Given the description of an element on the screen output the (x, y) to click on. 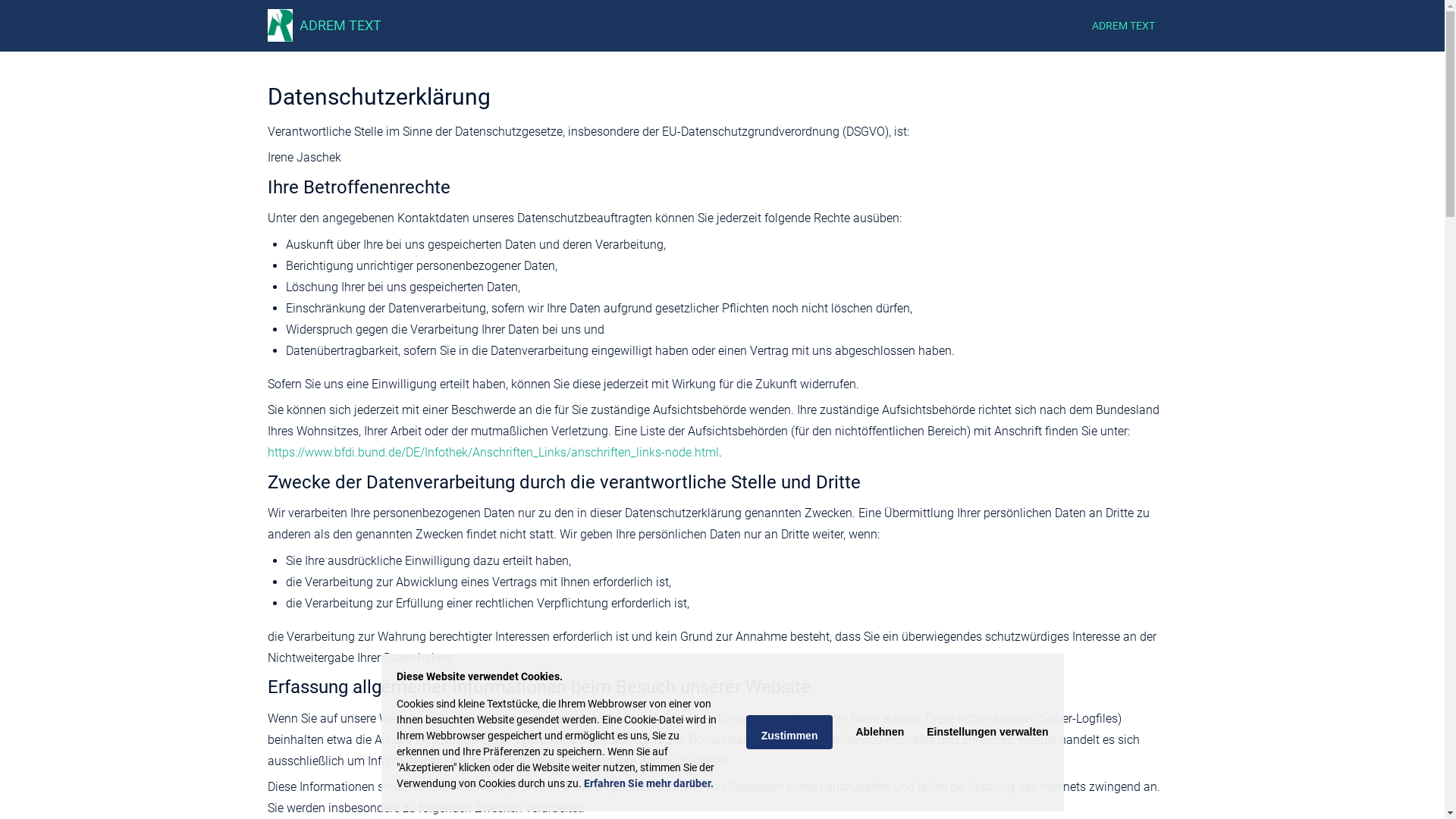
ADREM TEXT Element type: text (1123, 25)
ADREM TEXT Element type: text (339, 25)
Zustimmen Element type: text (789, 732)
Einstellungen verwalten Element type: text (987, 732)
Ablehnen Element type: text (879, 732)
